Given the description of an element on the screen output the (x, y) to click on. 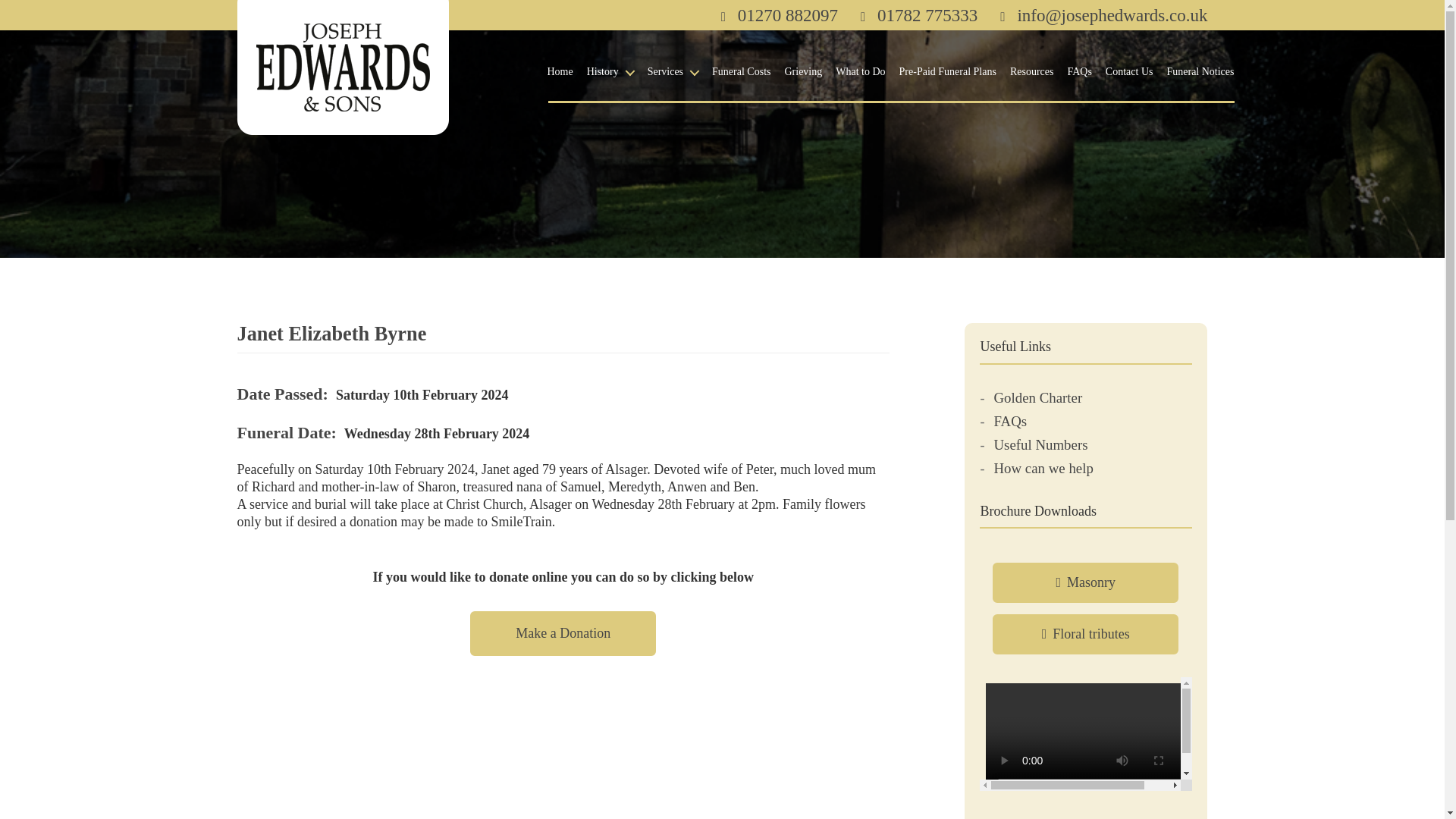
Home (559, 72)
01782 775333 (918, 15)
Pre-Paid Funeral Plans (947, 72)
Funeral Notices (1199, 72)
FAQs (1078, 72)
History (609, 72)
01270 882097 (779, 15)
Funeral Costs (740, 72)
Resources (1032, 72)
Services (672, 72)
What to Do (860, 72)
Grieving (803, 72)
Contact Us (1129, 72)
